Given the description of an element on the screen output the (x, y) to click on. 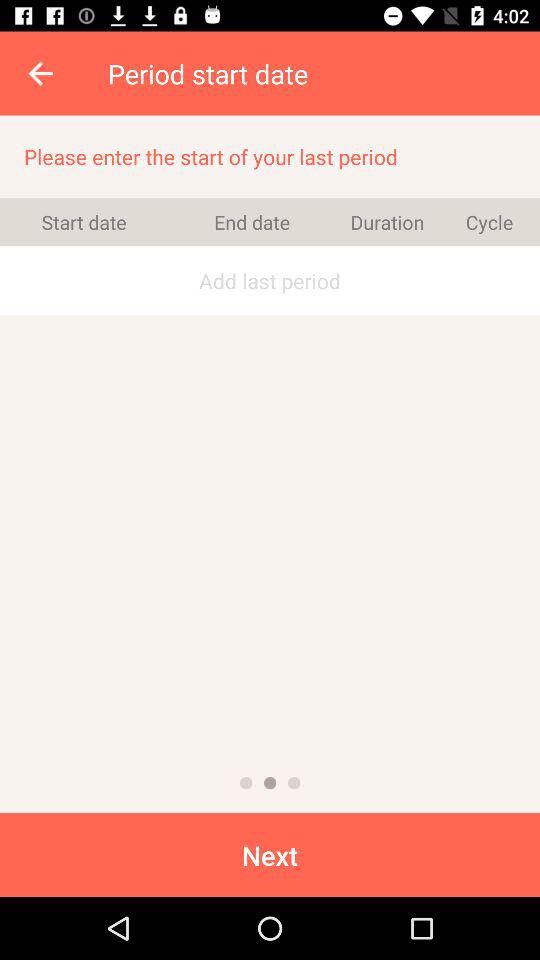
click item above the next item (294, 782)
